Given the description of an element on the screen output the (x, y) to click on. 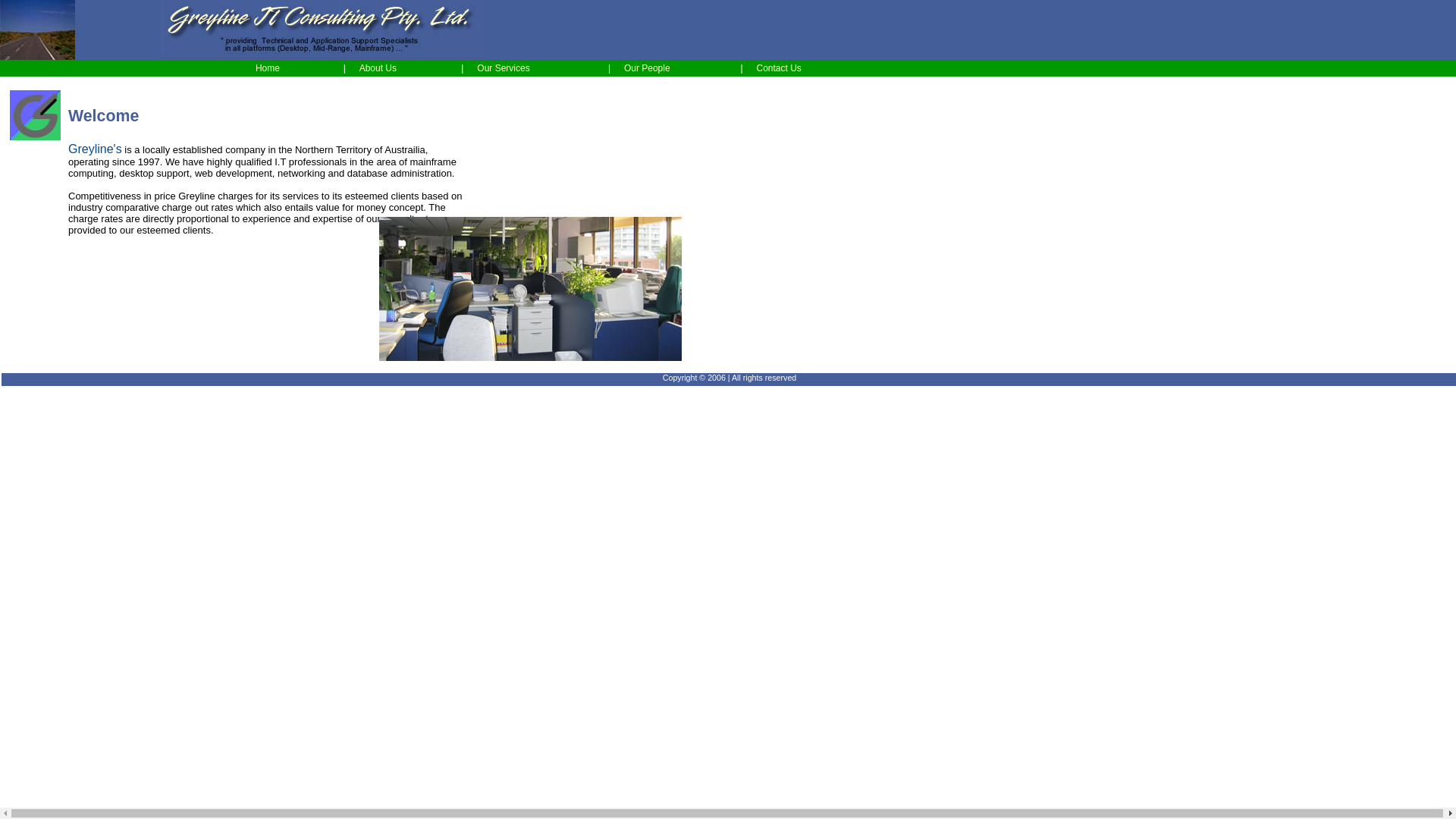
About Us Element type: text (377, 67)
Our Services Element type: text (502, 67)
Contact Us Element type: text (778, 67)
Our People Element type: text (647, 67)
Home Element type: text (267, 67)
